Given the description of an element on the screen output the (x, y) to click on. 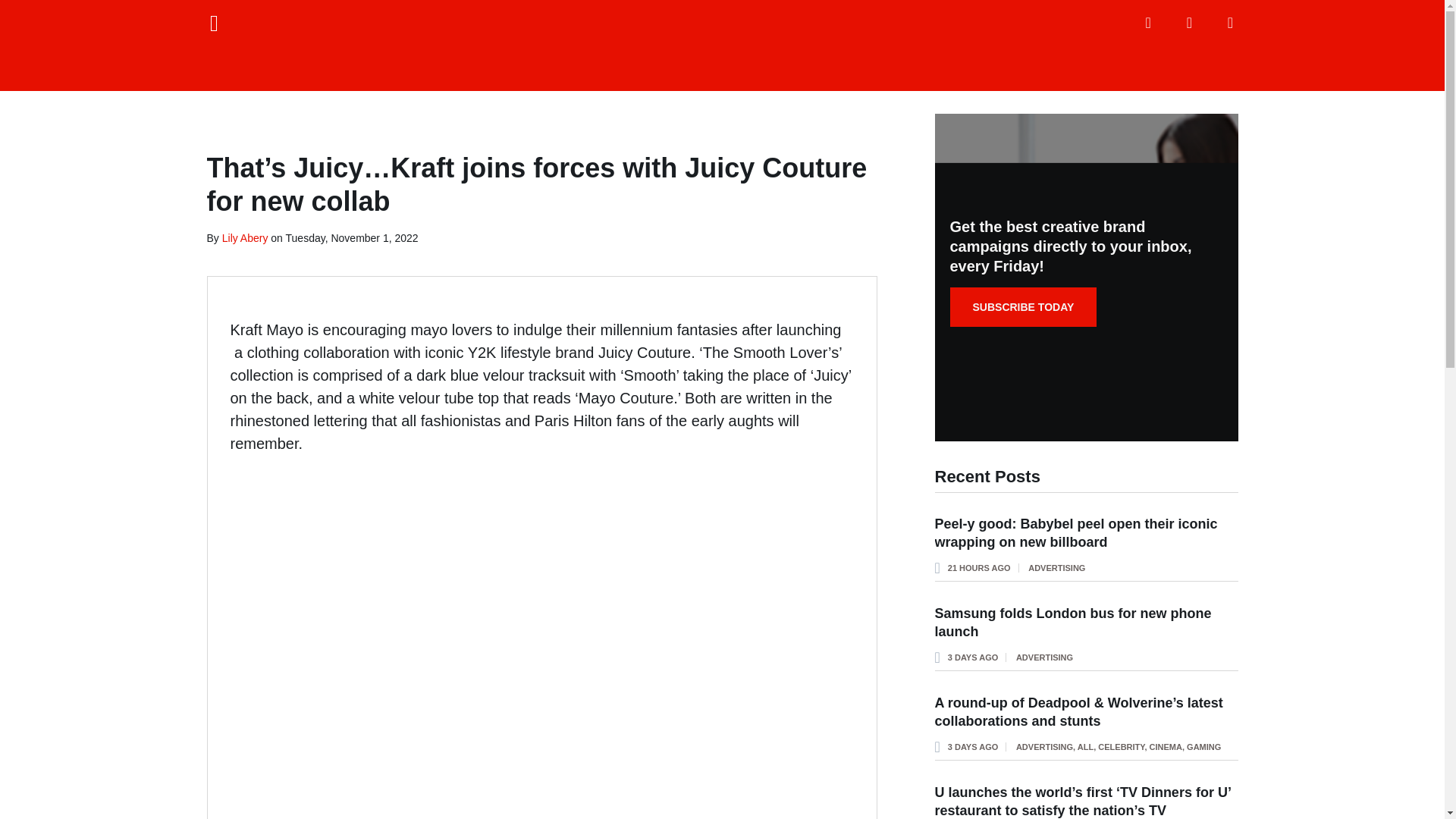
Lily Abery (244, 237)
Samsung folds London bus for new phone launch (1072, 622)
Posts by Lily Abery (244, 237)
Famous Campaigns (722, 45)
SUBSCRIBE TODAY (1022, 306)
